Given the description of an element on the screen output the (x, y) to click on. 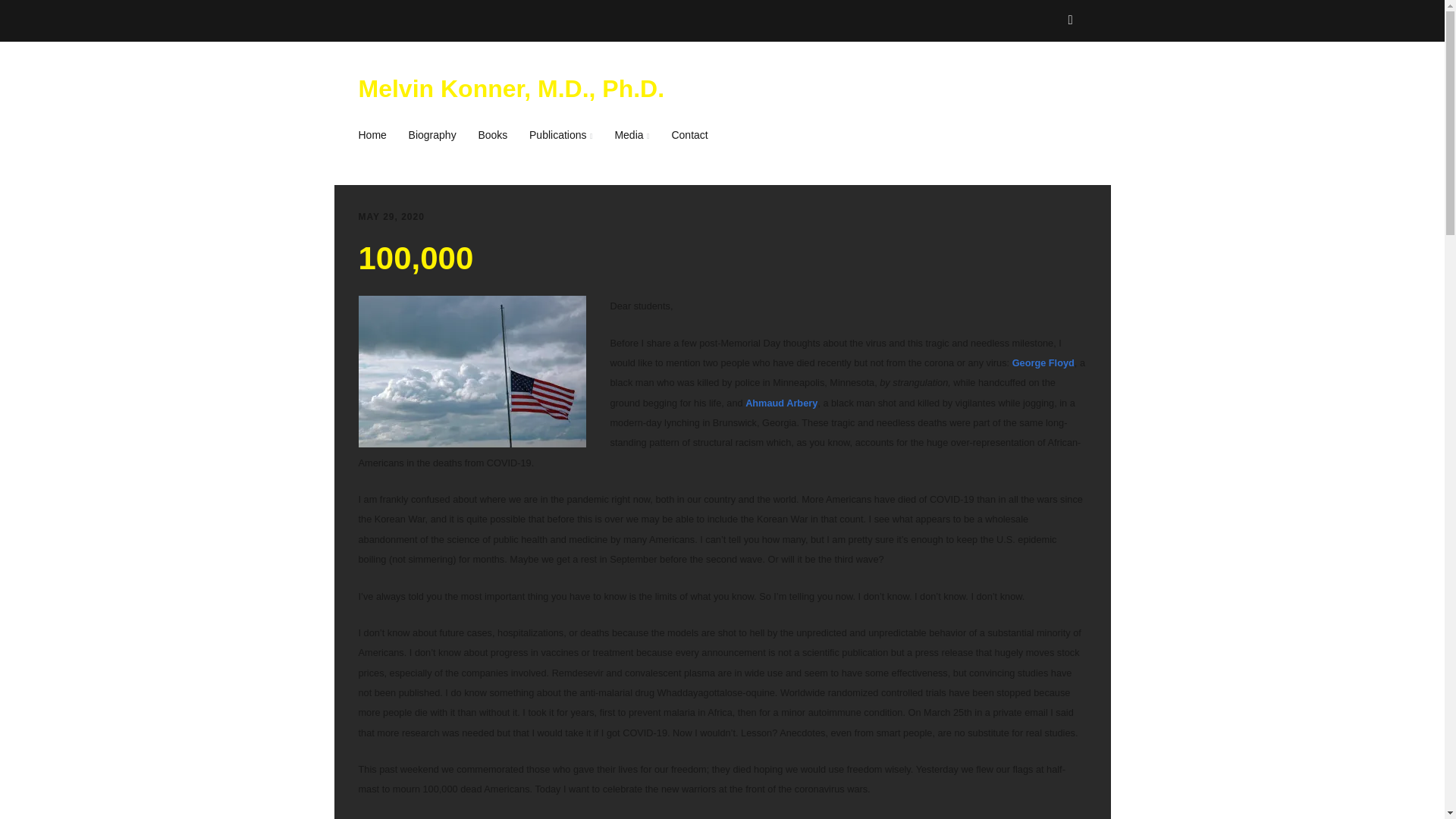
Ahmaud Arbery (780, 402)
Media (631, 135)
Books (492, 135)
Biography (431, 135)
George Floyd (1042, 362)
Melvin Konner, M.D., Ph.D. (510, 88)
Home (376, 135)
Publications (560, 135)
Contact (689, 135)
